Given the description of an element on the screen output the (x, y) to click on. 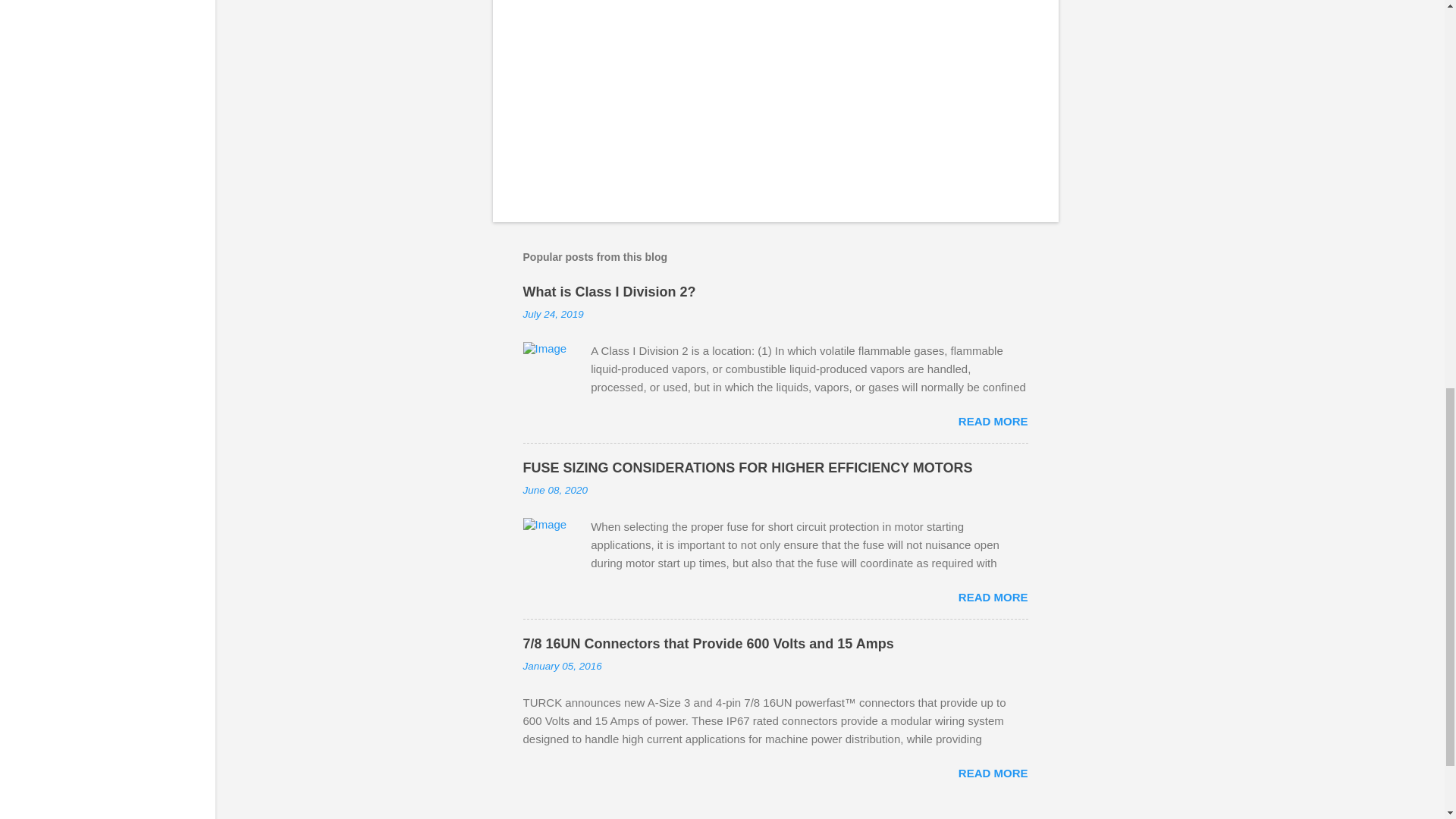
permanent link (552, 314)
READ MORE (992, 420)
READ MORE (992, 772)
June 08, 2020 (555, 490)
FUSE SIZING CONSIDERATIONS FOR HIGHER EFFICIENCY MOTORS (747, 467)
READ MORE (992, 596)
What is Class I Division 2? (608, 291)
January 05, 2016 (562, 665)
July 24, 2019 (552, 314)
